Given the description of an element on the screen output the (x, y) to click on. 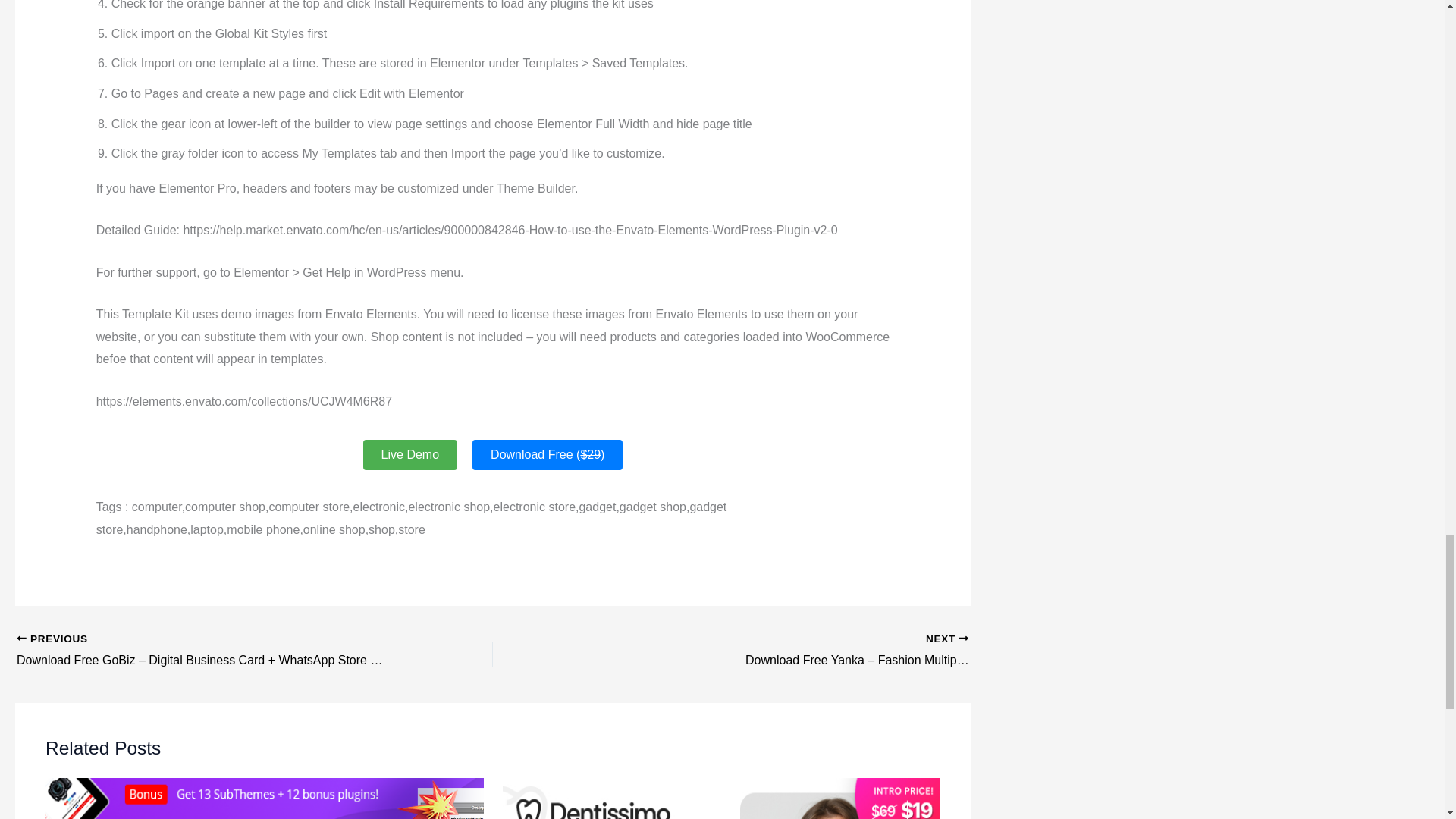
Live Demo (409, 454)
